Given the description of an element on the screen output the (x, y) to click on. 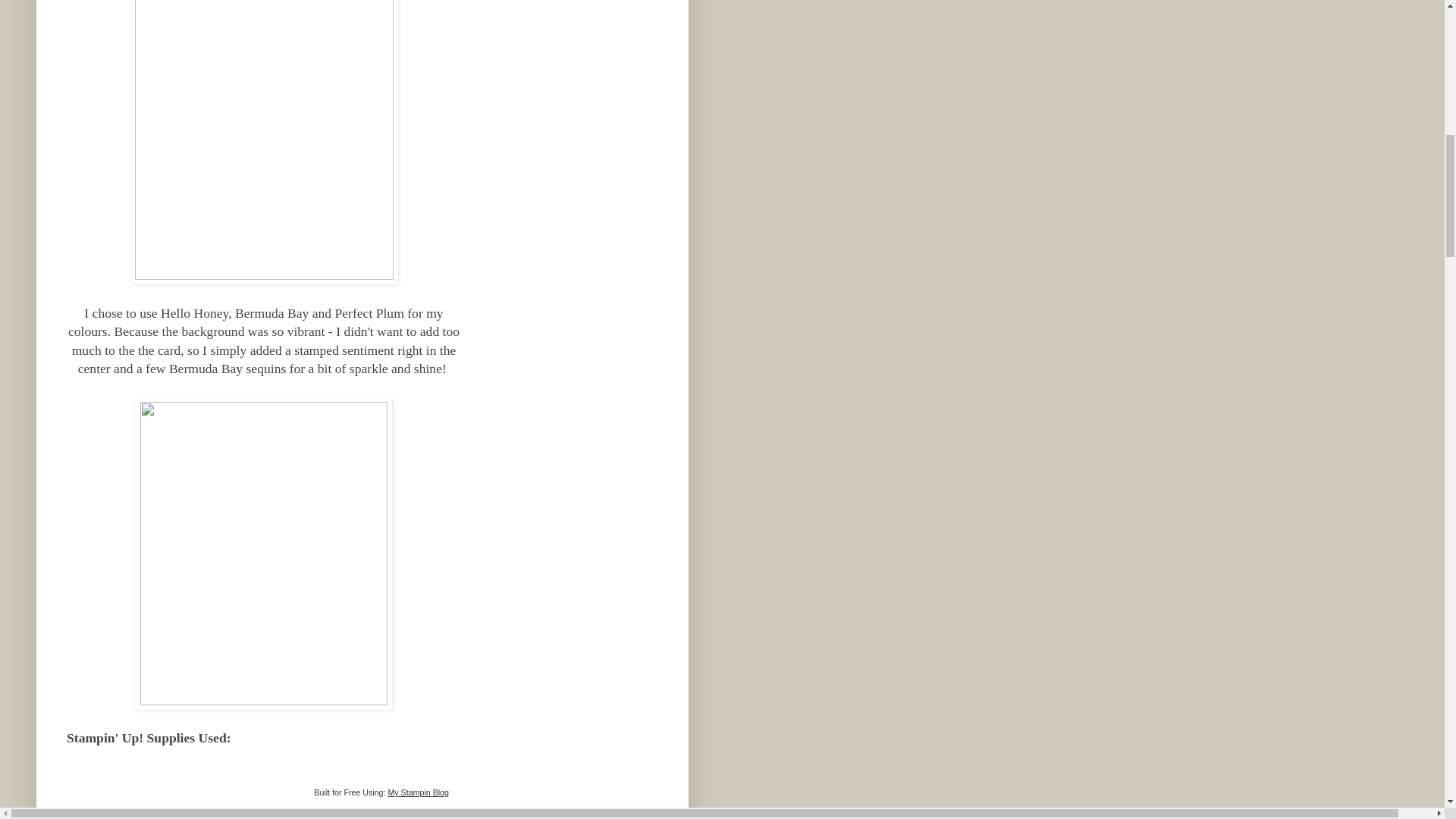
My Stampin Blog (417, 791)
